Given the description of an element on the screen output the (x, y) to click on. 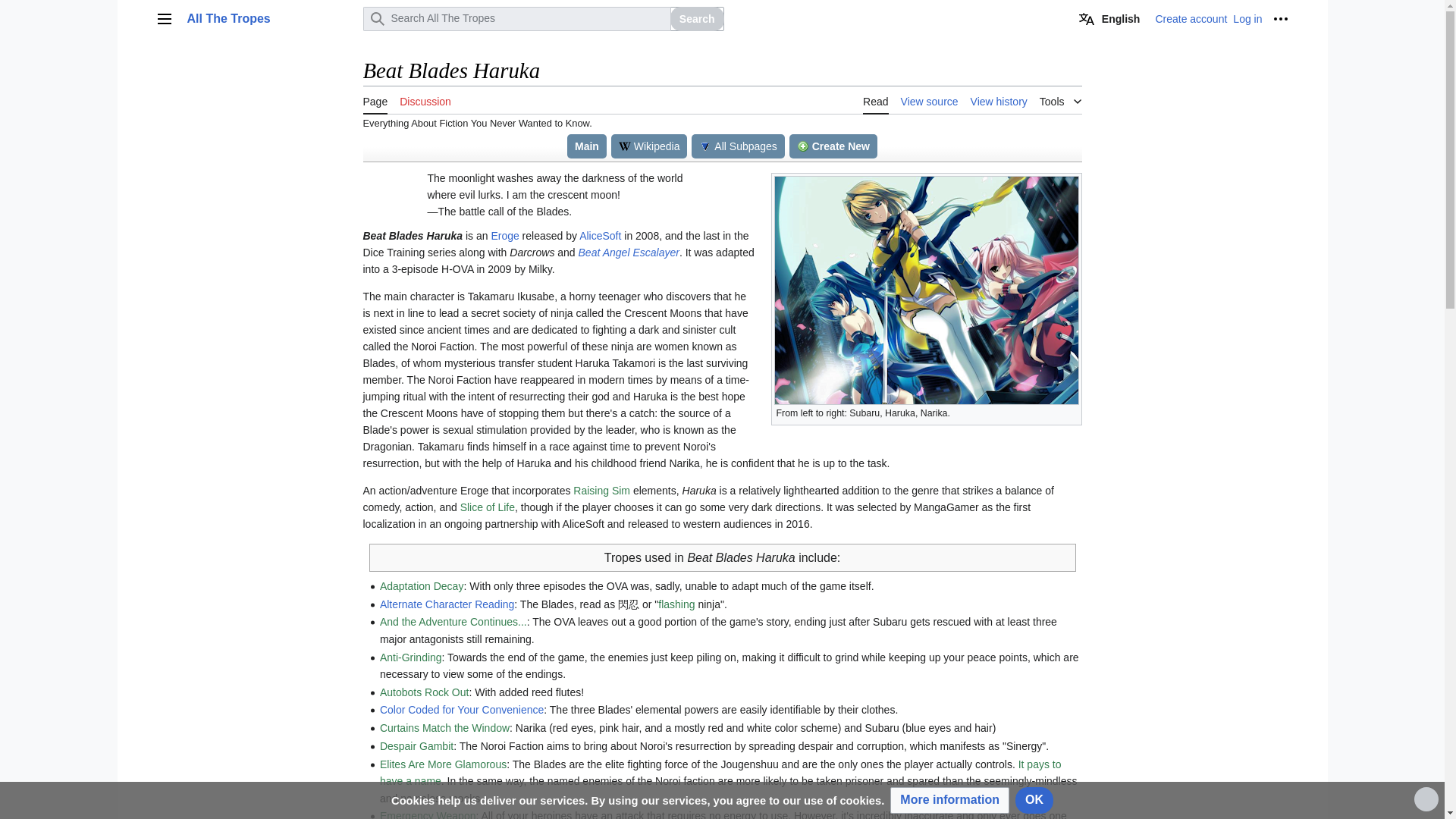
All The Tropes (270, 18)
Discussion (424, 100)
Log in (1247, 19)
More options (1280, 18)
English (1110, 18)
View source (929, 100)
Page (374, 100)
Create account (1190, 19)
Read (875, 100)
Search (696, 18)
View history (999, 100)
